Given the description of an element on the screen output the (x, y) to click on. 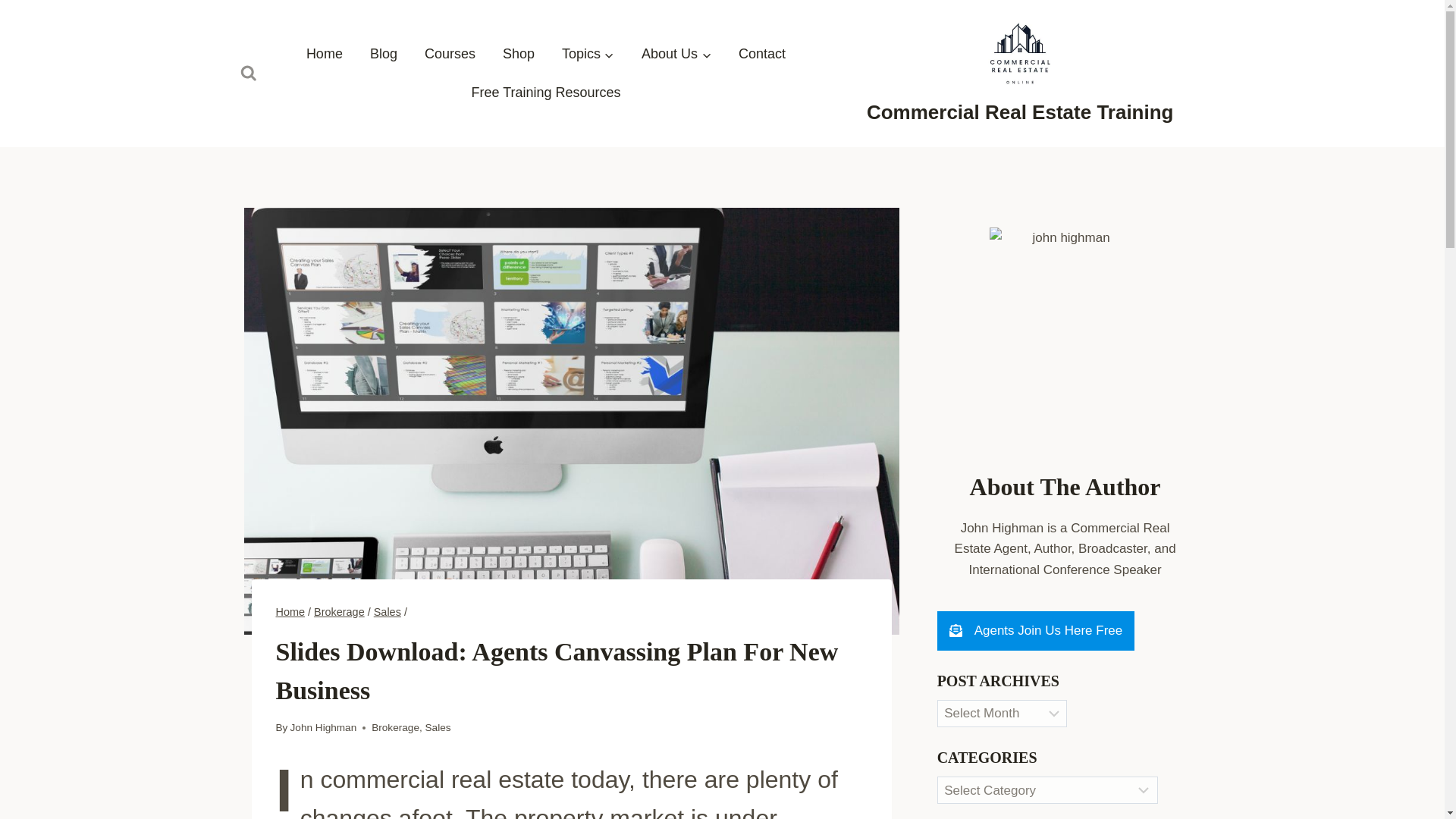
Sales (387, 612)
Commercial Real Estate Training Home Page (324, 54)
Shop (518, 54)
Commercial Real Estate Training (1019, 71)
Courses (449, 54)
Sales (437, 727)
commercial real estate training courses (449, 54)
Contact (762, 54)
Brokerage (339, 612)
About Us (676, 54)
John Highman (322, 727)
Home (290, 612)
Topics (587, 54)
Blog (383, 54)
Home (324, 54)
